Given the description of an element on the screen output the (x, y) to click on. 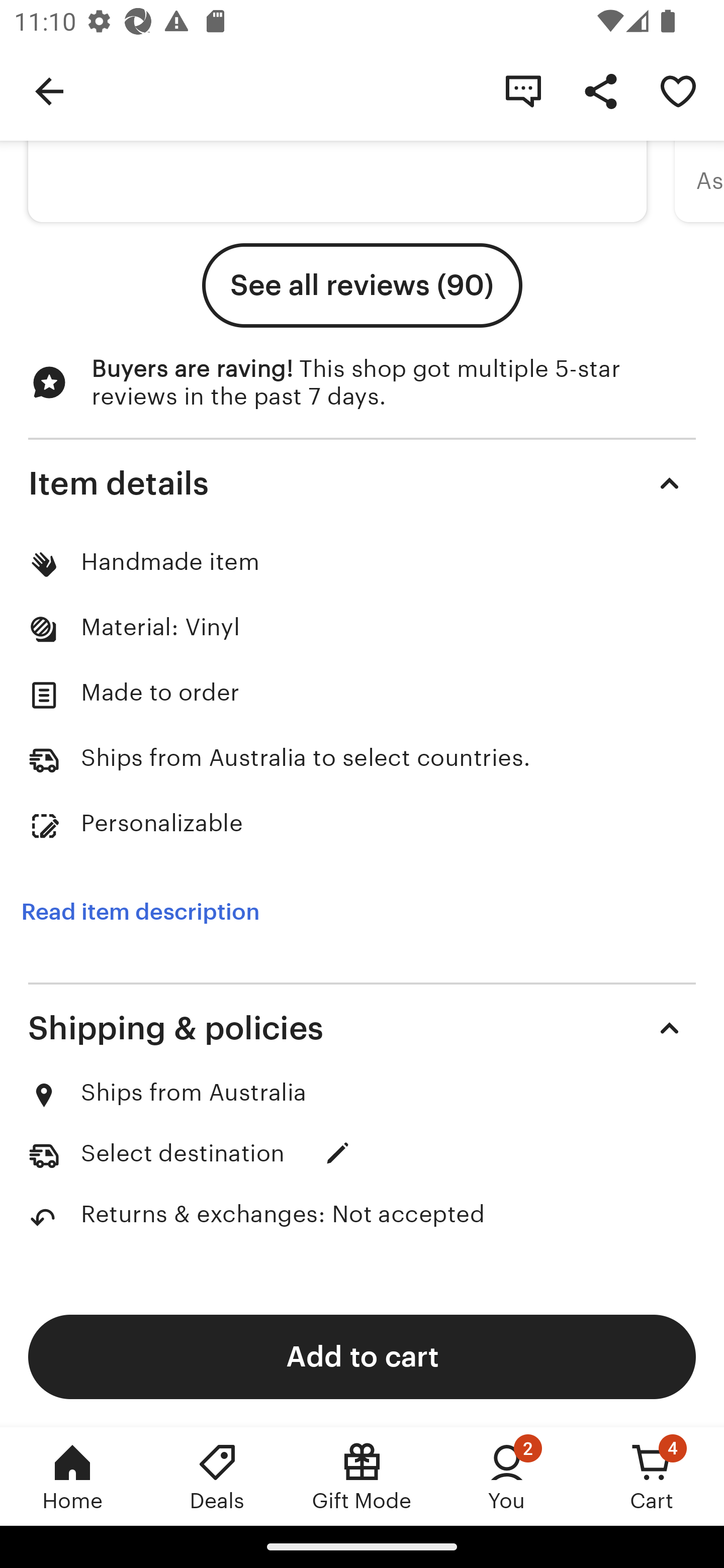
Navigate up (49, 90)
Contact shop (523, 90)
Share (600, 90)
See all reviews (90) (361, 285)
Item details (362, 483)
Read item description (140, 912)
Shipping & policies (362, 1028)
Update (337, 1152)
Add to cart (361, 1355)
Deals (216, 1475)
Gift Mode (361, 1475)
You, 2 new notifications You (506, 1475)
Cart, 4 new notifications Cart (651, 1475)
